Given the description of an element on the screen output the (x, y) to click on. 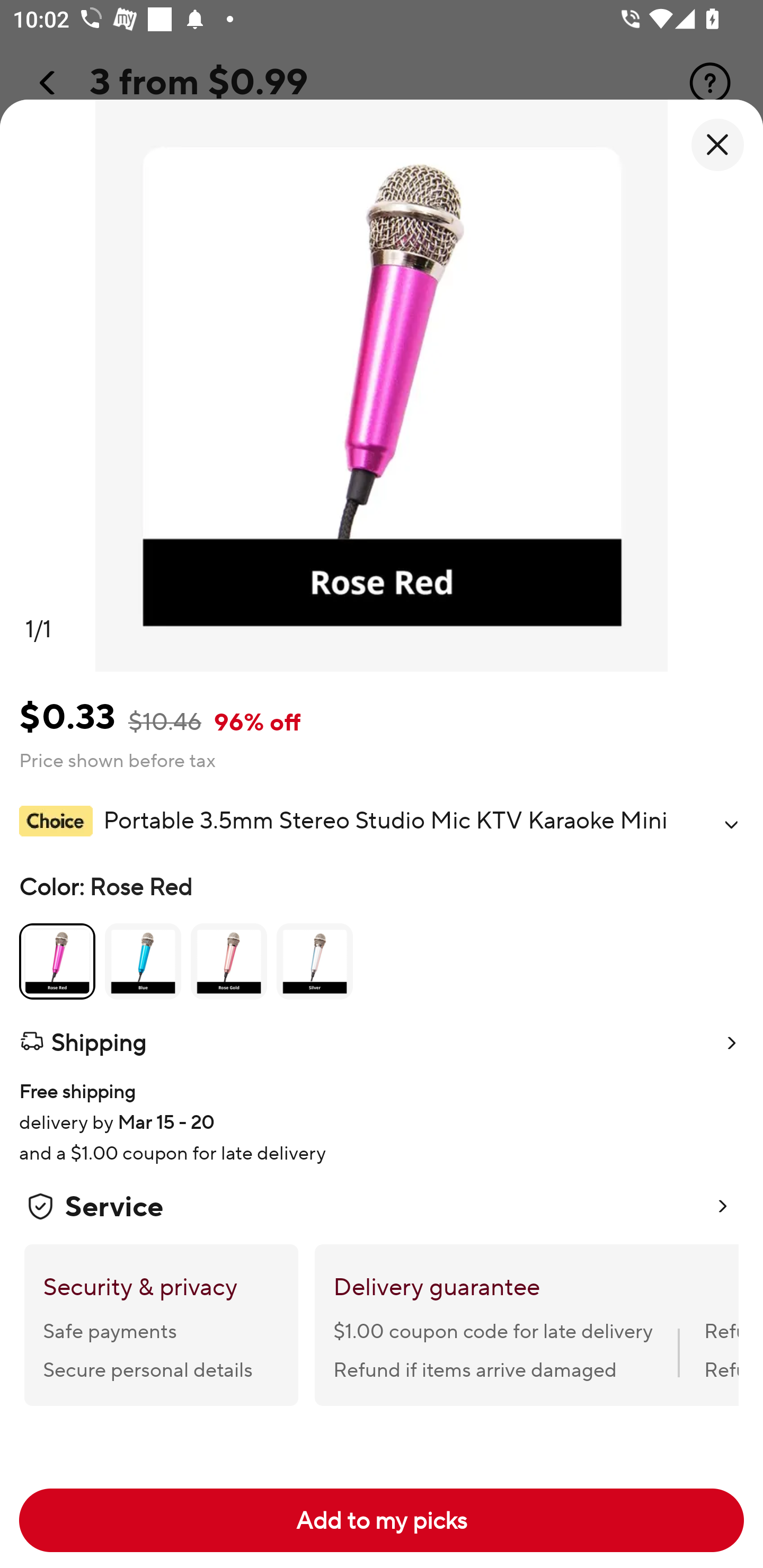
close  (717, 144)
 (730, 824)
Add to my picks (381, 1520)
